Given the description of an element on the screen output the (x, y) to click on. 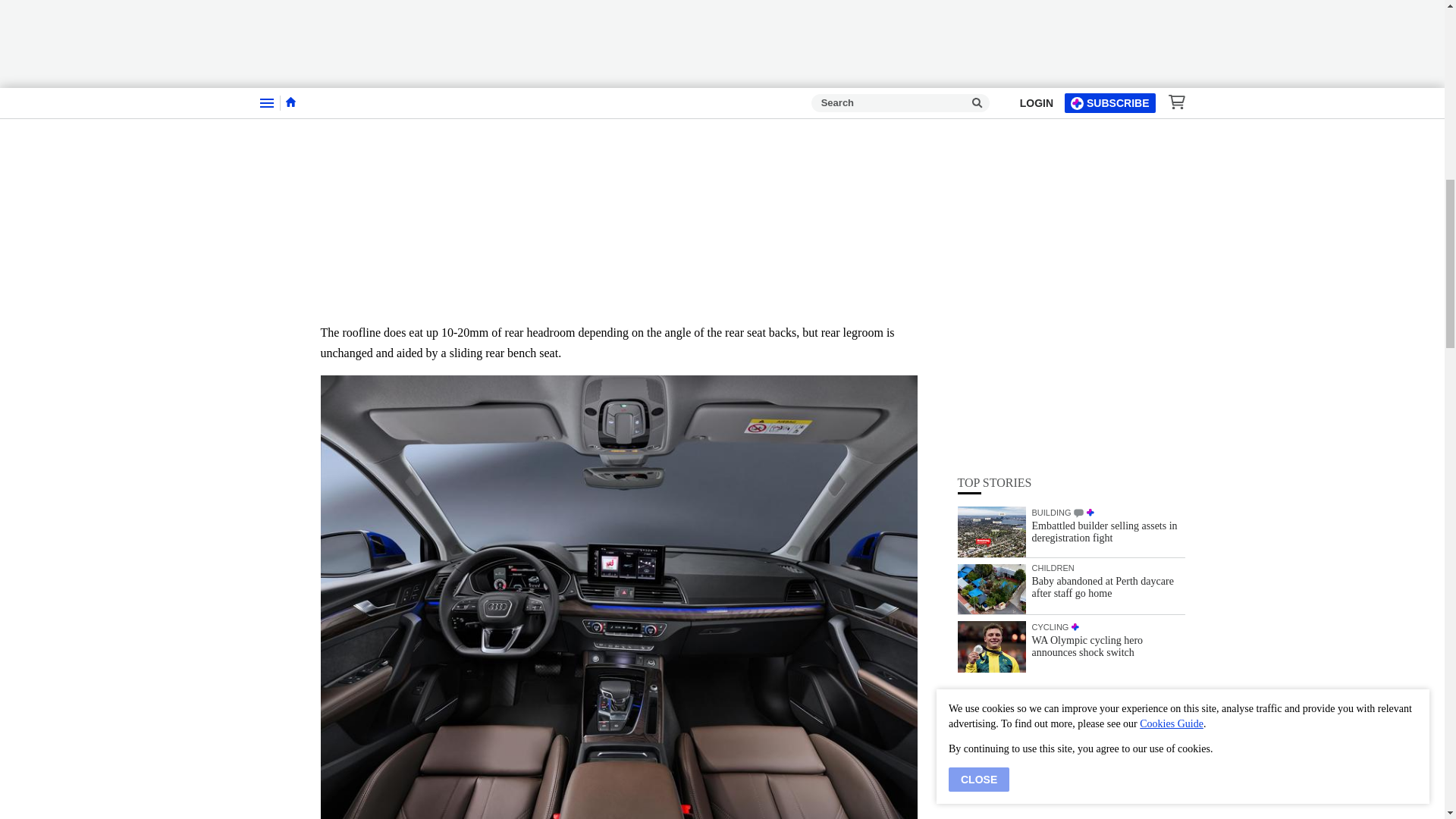
PREMIUM (1075, 225)
PREMIUM (1090, 111)
COMMENTS (1078, 112)
